Given the description of an element on the screen output the (x, y) to click on. 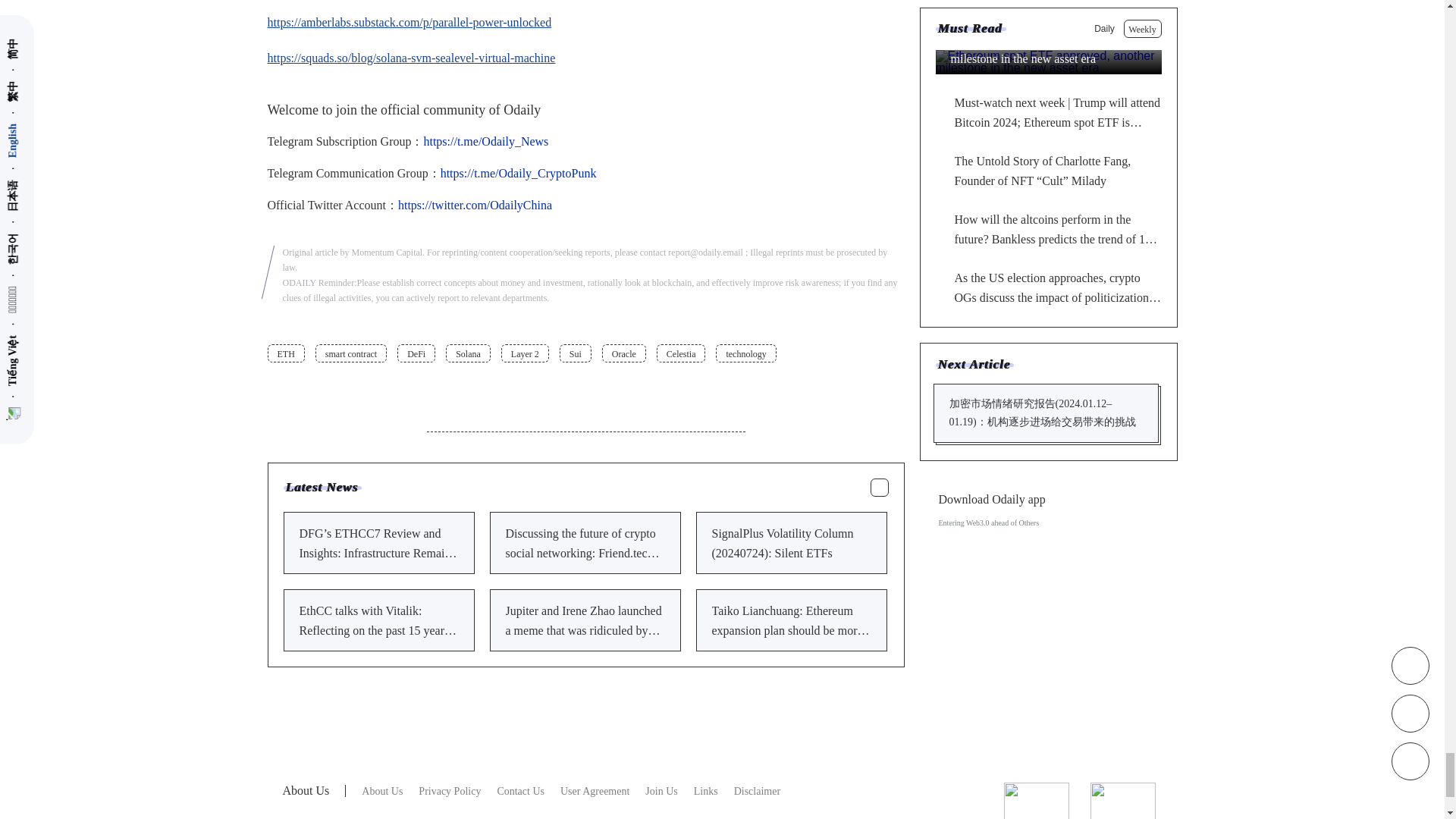
Oracle (624, 352)
Layer 2 (524, 352)
Odaily (594, 790)
Odaily (756, 790)
Odaily (705, 790)
Celestia (681, 352)
ETH (285, 352)
Odaily (382, 790)
Odaily (449, 790)
Sui (575, 352)
Solana (467, 352)
Odaily (661, 790)
Share to Twitter (854, 388)
